Given the description of an element on the screen output the (x, y) to click on. 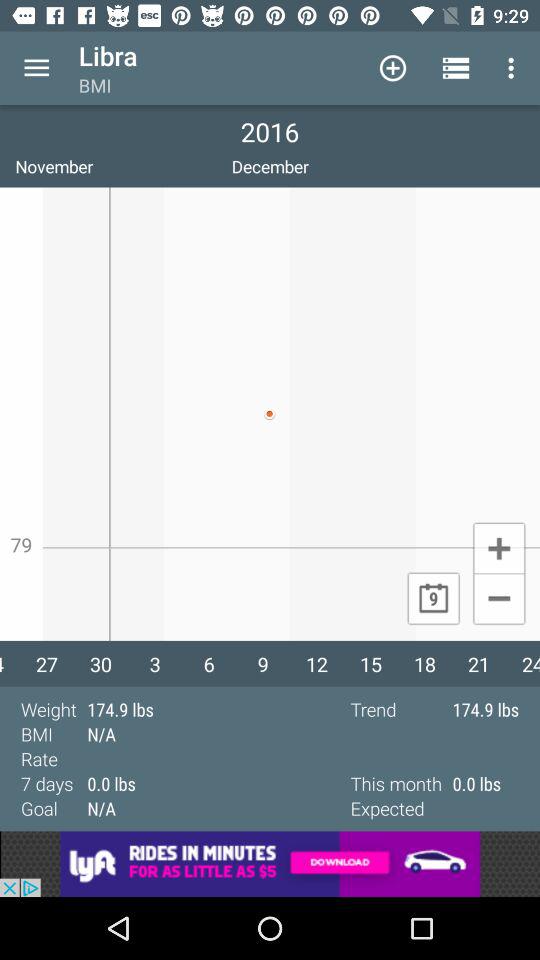
minimize page (498, 599)
